Given the description of an element on the screen output the (x, y) to click on. 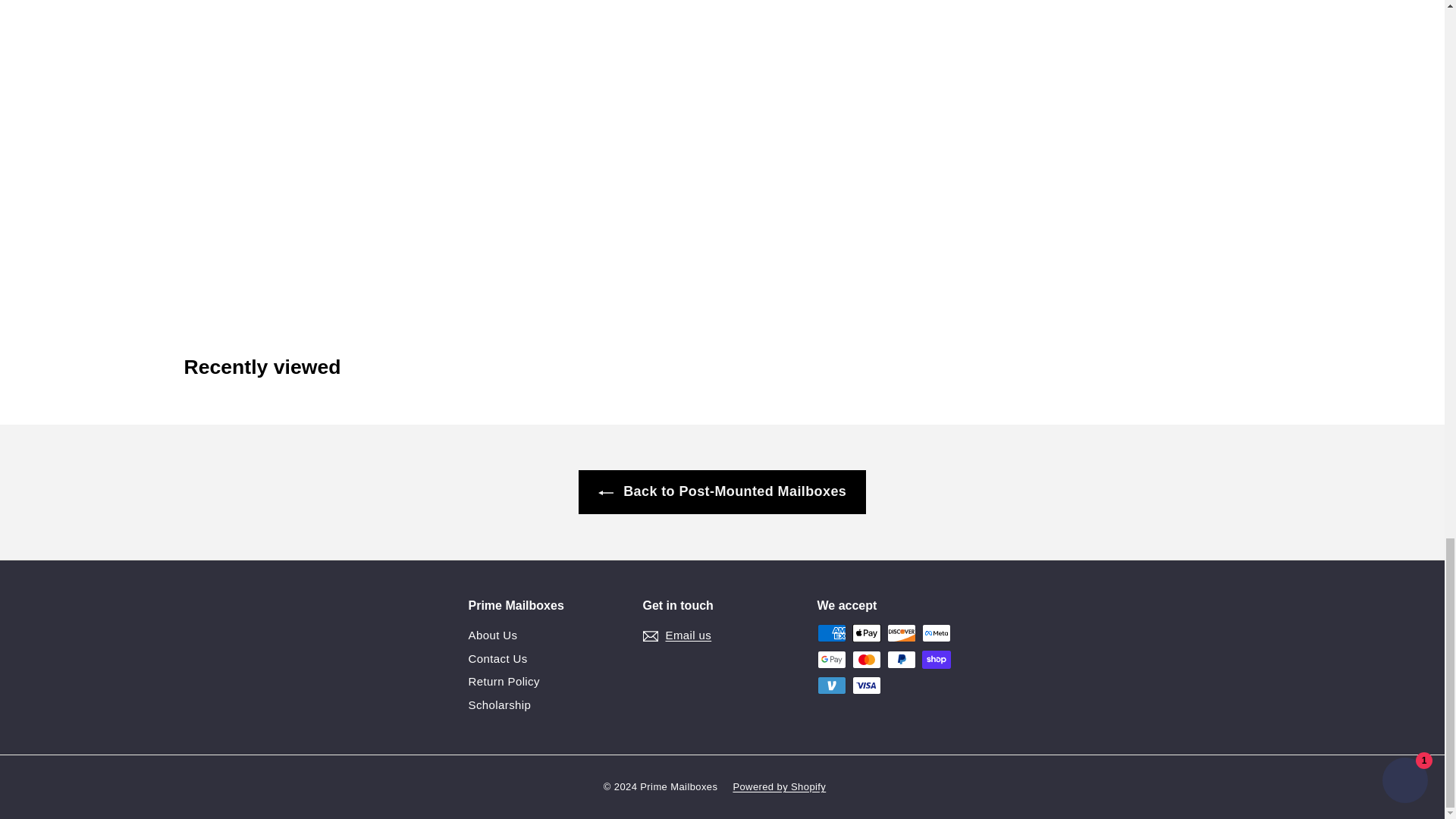
American Express (830, 633)
Discover (900, 633)
Apple Pay (865, 633)
icon-left-arrow (605, 492)
